Given the description of an element on the screen output the (x, y) to click on. 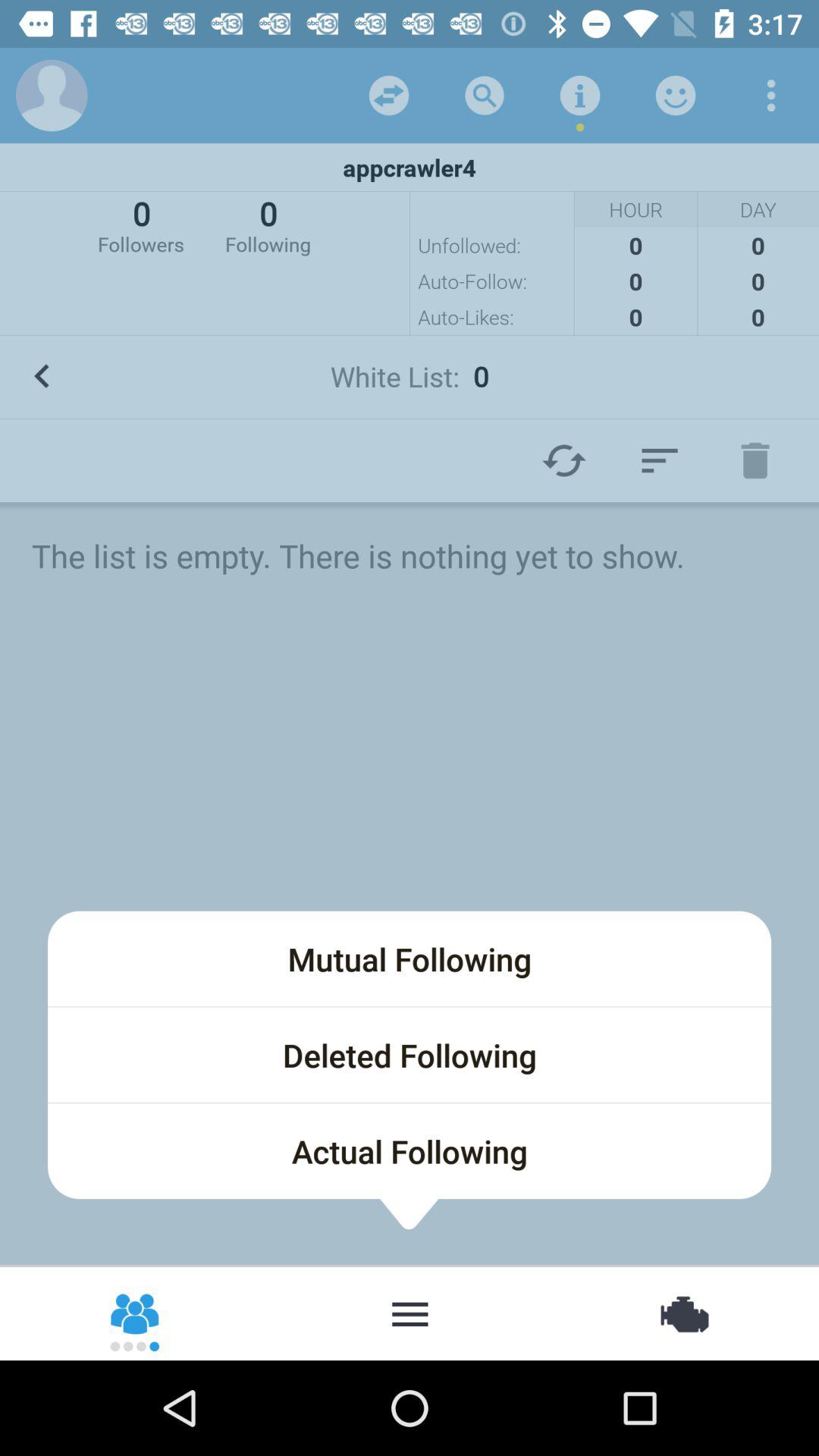
swipe to the deleted following (409, 1054)
